Given the description of an element on the screen output the (x, y) to click on. 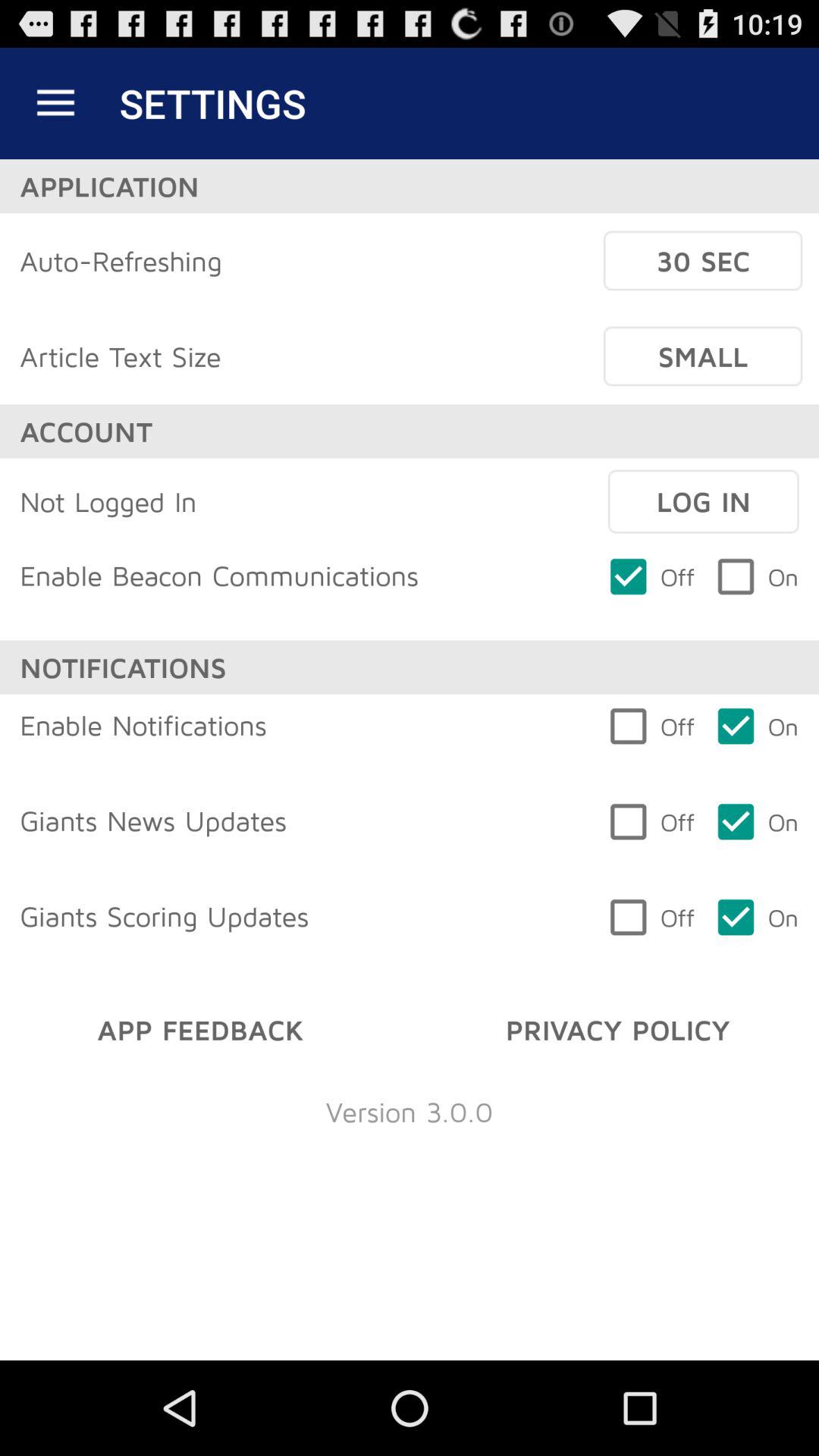
scroll to version 3 0 item (409, 1111)
